Given the description of an element on the screen output the (x, y) to click on. 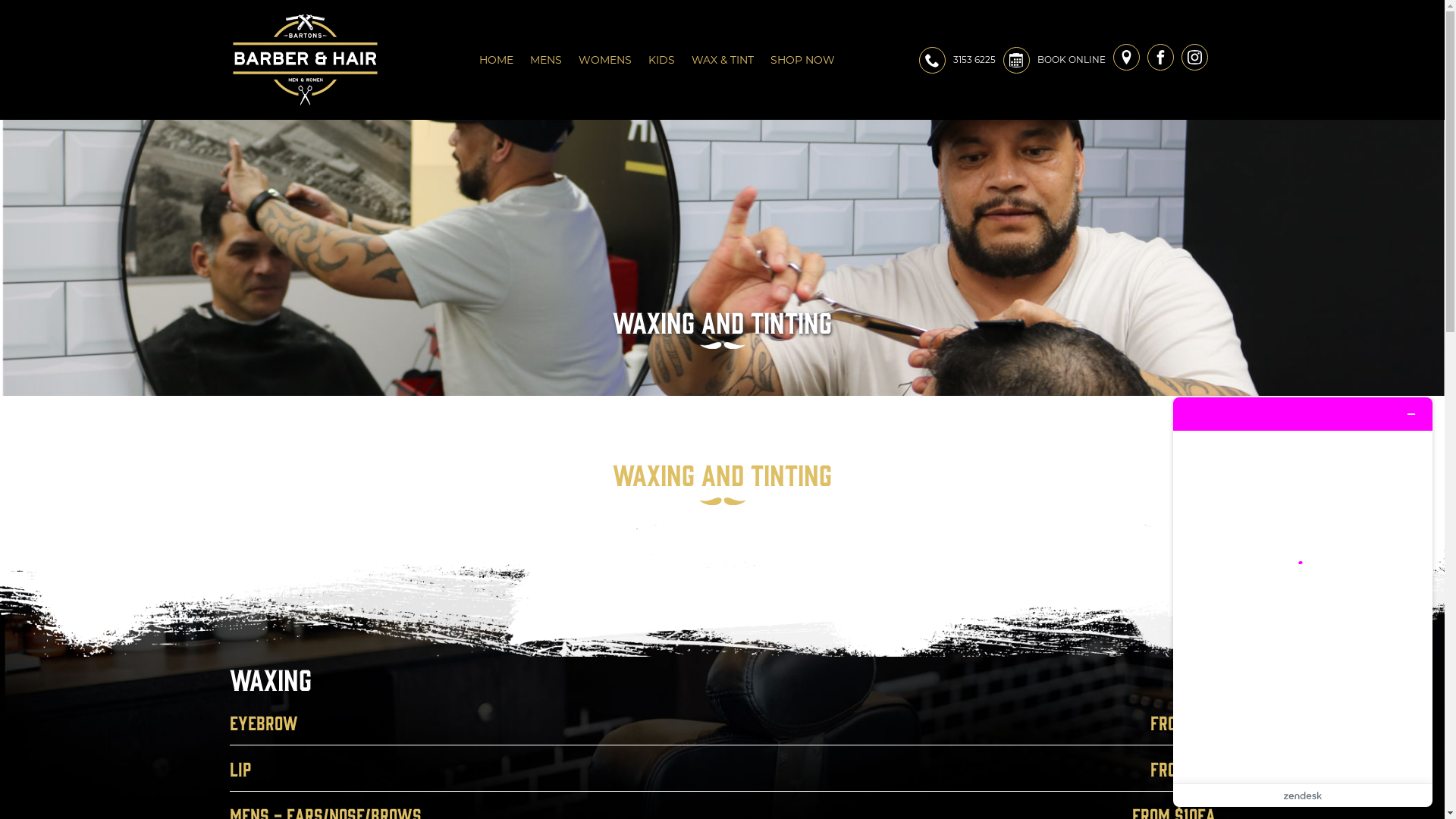
WOMENS Element type: text (605, 59)
KIDS Element type: text (661, 59)
HOME Element type: text (495, 59)
WAX & TINT Element type: text (721, 59)
MENS Element type: text (545, 59)
3153 6225 Element type: text (973, 59)
BOOK ONLINE Element type: text (1071, 59)
SHOP NOW Element type: text (803, 59)
